Given the description of an element on the screen output the (x, y) to click on. 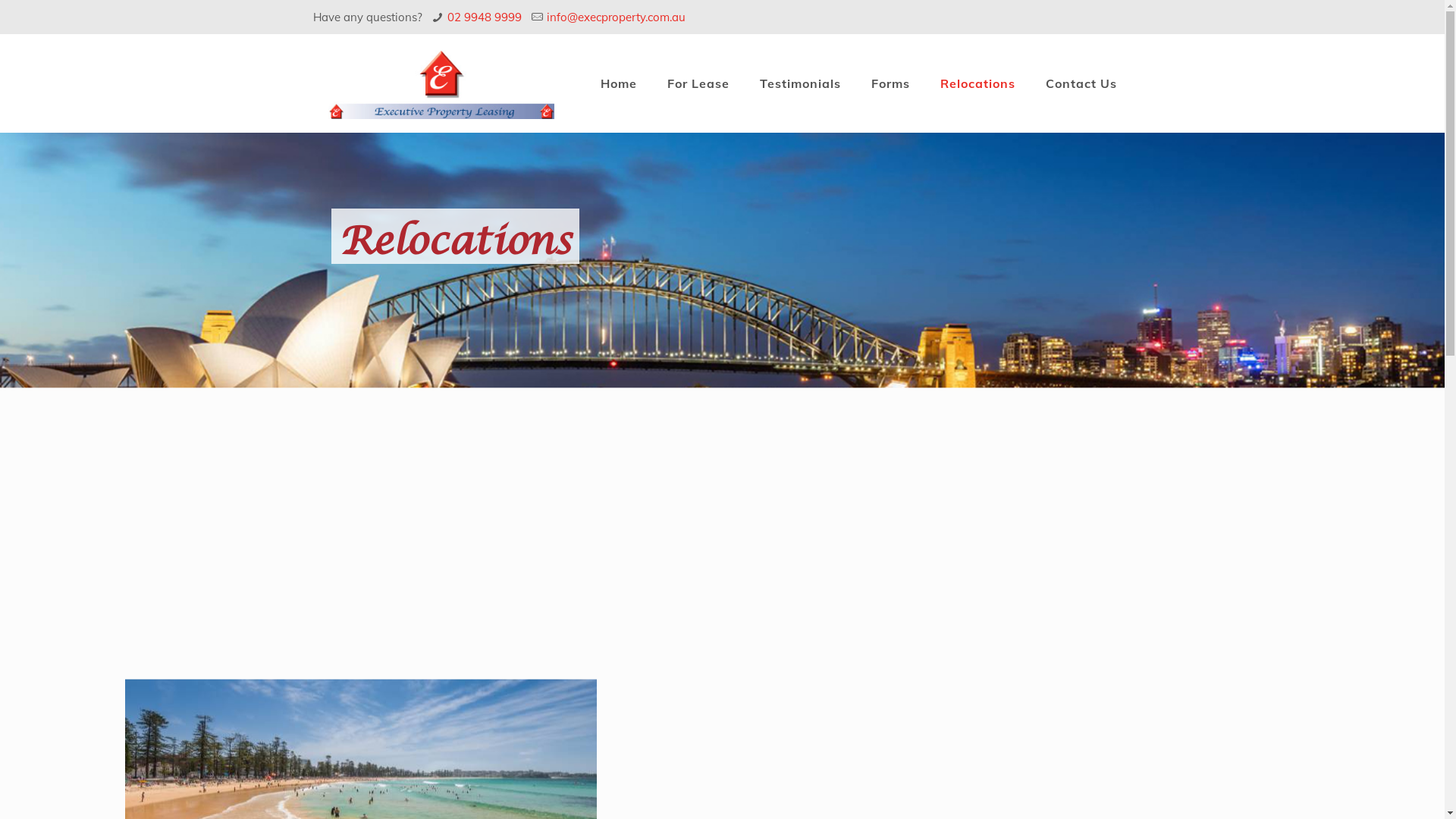
Testimonials Element type: text (800, 83)
02 9948 9999 Element type: text (484, 16)
Relocations Element type: text (977, 83)
Contact Us Element type: text (1081, 83)
info@execproperty.com.au Element type: text (615, 16)
Executive Property Leasing Element type: hover (441, 83)
For Lease Element type: text (698, 83)
Home Element type: text (618, 83)
Forms Element type: text (890, 83)
